Given the description of an element on the screen output the (x, y) to click on. 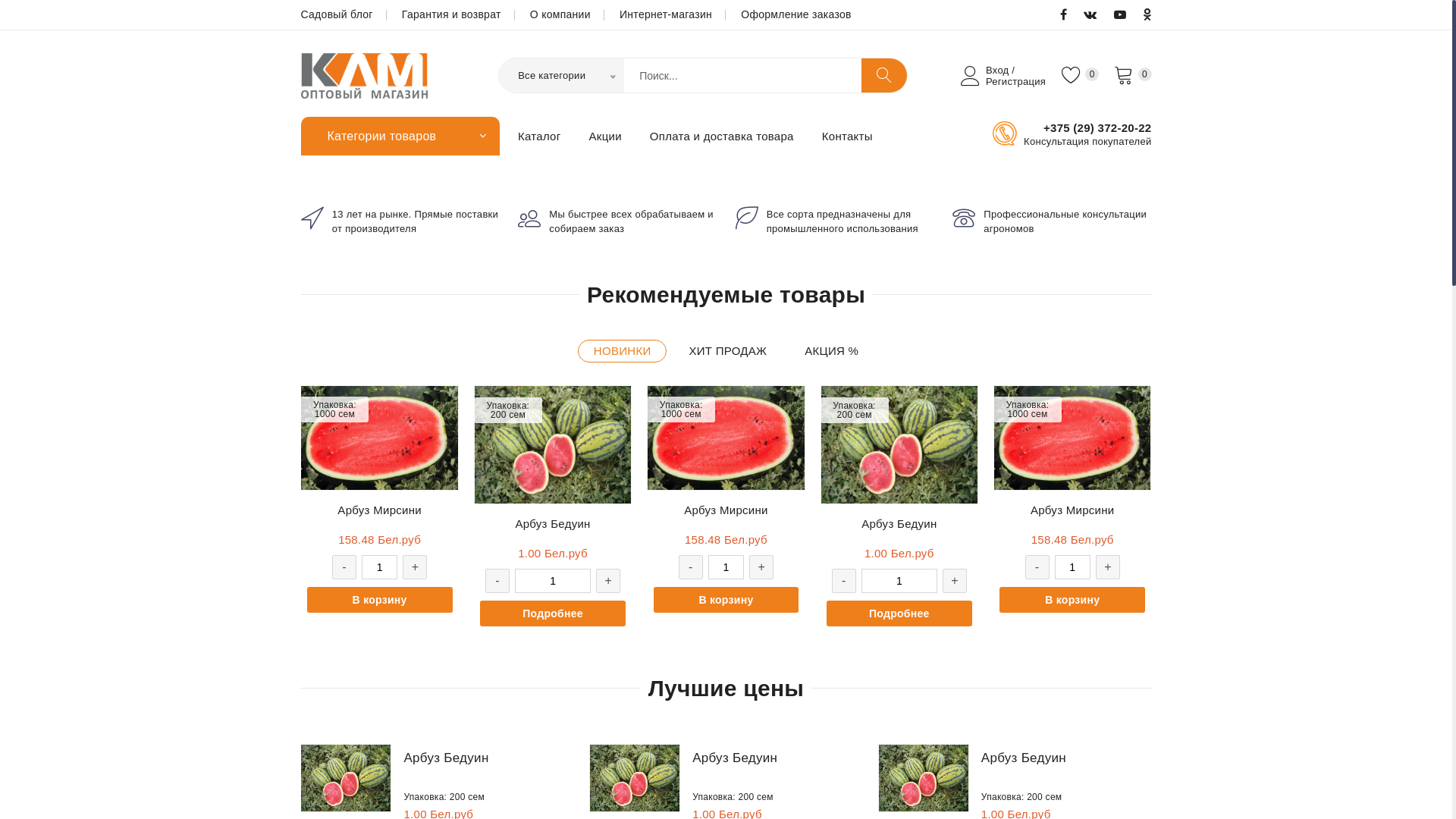
+ Element type: text (954, 580)
- Element type: text (344, 567)
- Element type: text (1037, 567)
+375 (29) 372-20-22 Element type: text (1087, 127)
0 Element type: text (1079, 74)
- Element type: text (497, 580)
+ Element type: text (1107, 567)
0 Element type: text (1132, 74)
+ Element type: text (761, 567)
+ Element type: text (414, 567)
- Element type: text (843, 580)
+ Element type: text (608, 580)
- Element type: text (690, 567)
